Given the description of an element on the screen output the (x, y) to click on. 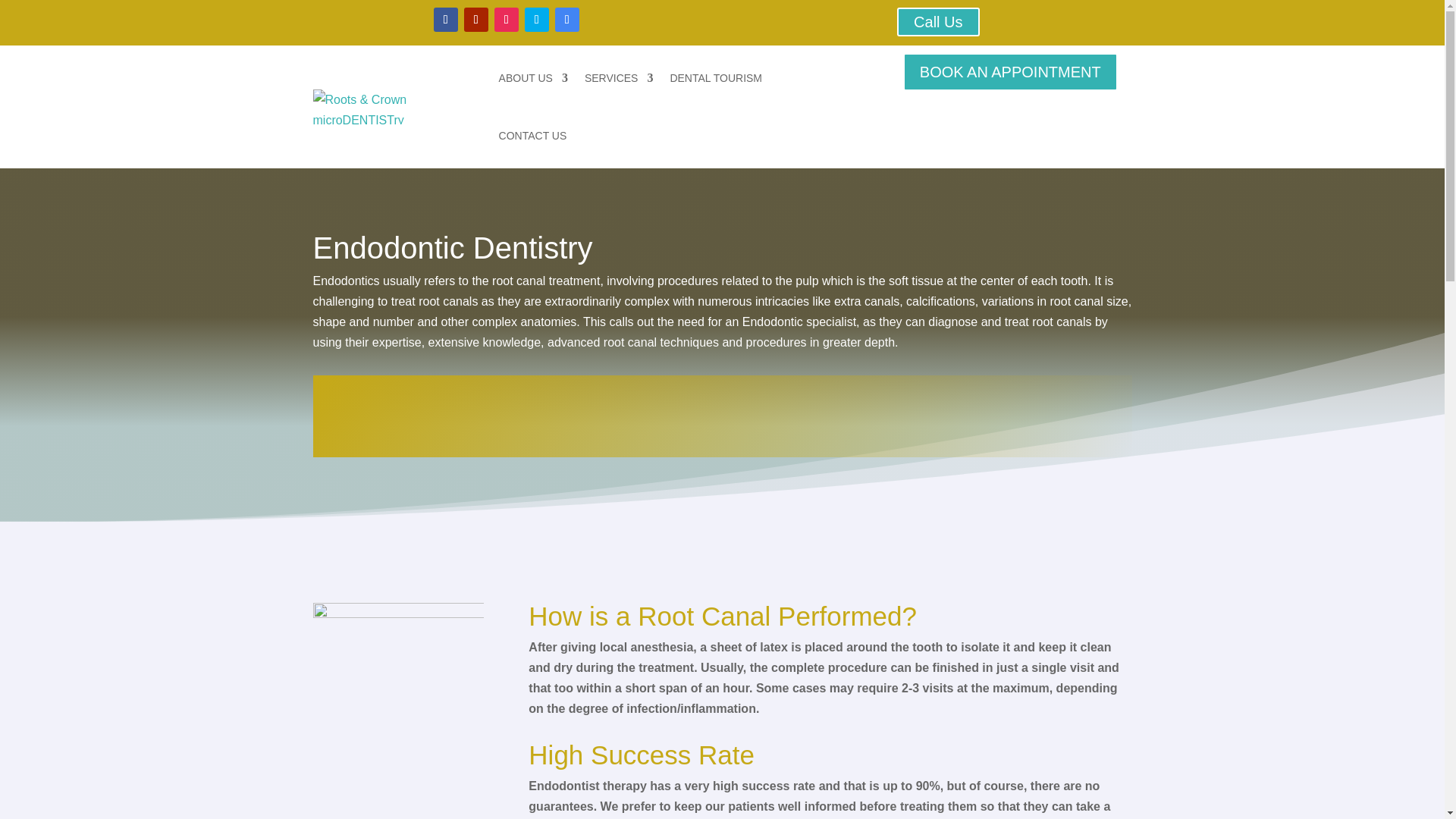
Follow on Google (566, 19)
DENTAL TOURISM (715, 78)
Follow on Facebook (445, 19)
Follow on Twitter (536, 19)
Follow on Instagram (506, 19)
SERVICES (619, 78)
BOOK AN APPOINTMENT (1010, 71)
Follow on Youtube (475, 19)
ABOUT US (533, 78)
Call Us (937, 21)
